Given the description of an element on the screen output the (x, y) to click on. 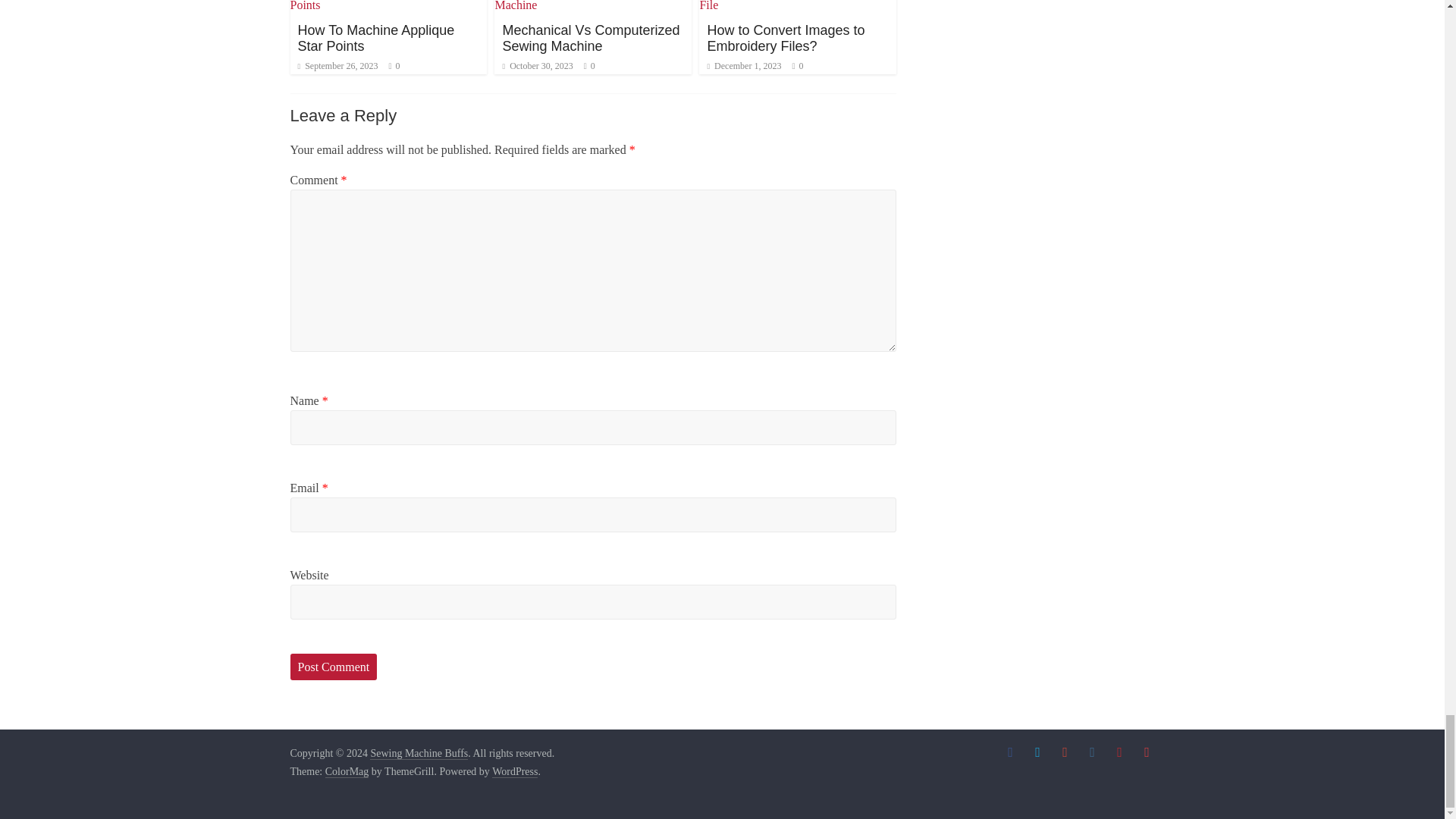
5:39 am (337, 65)
Post Comment (333, 666)
How To Machine Applique Star Points (375, 38)
